Given the description of an element on the screen output the (x, y) to click on. 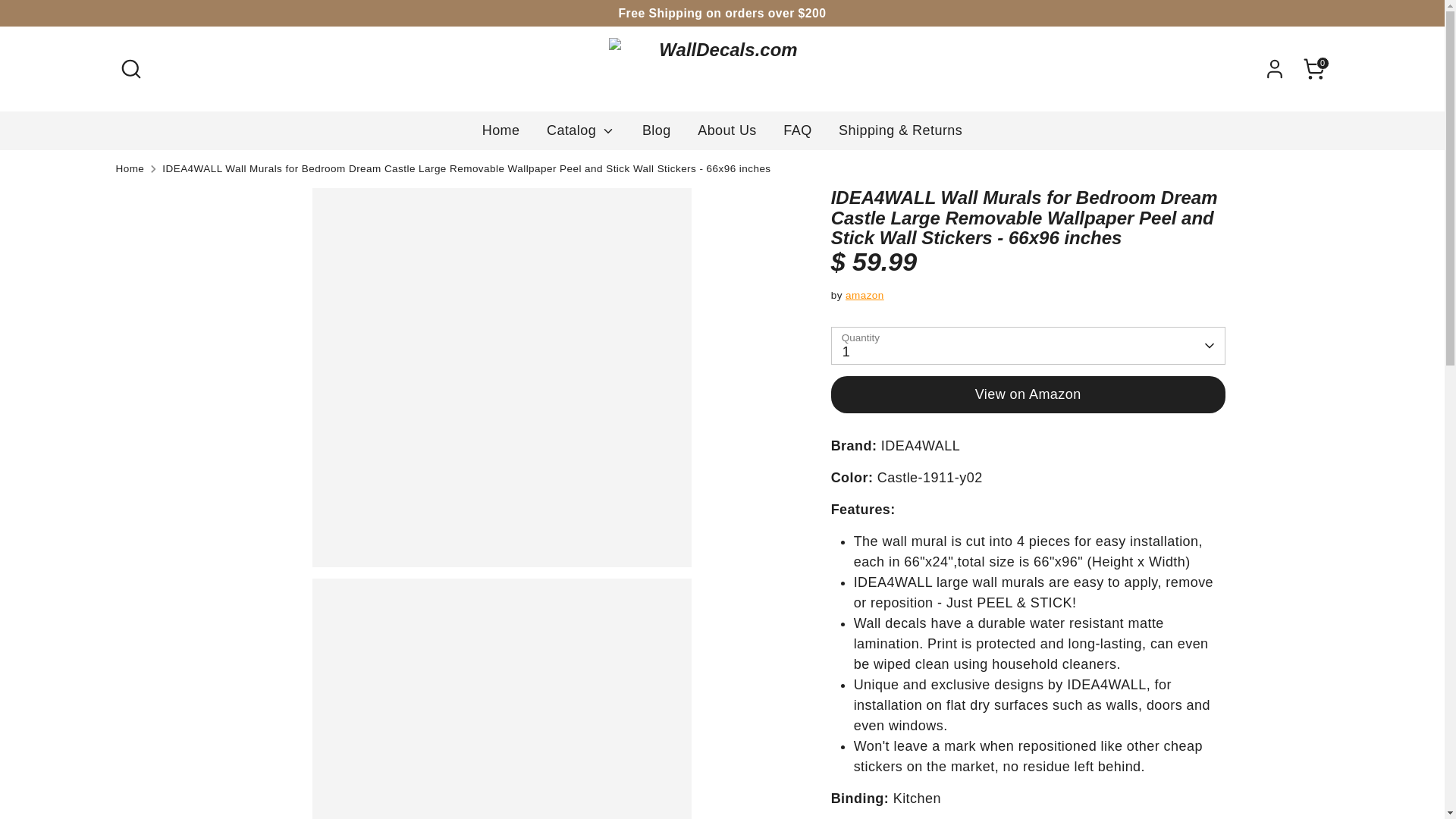
Discover (1190, 769)
Diners Club (1160, 769)
Search (130, 69)
Shop Pay (1282, 769)
0 (1312, 69)
Visa (1312, 769)
Apple Pay (1130, 769)
Meta Pay (1221, 769)
American Express (1100, 769)
Mastercard (1251, 769)
